Given the description of an element on the screen output the (x, y) to click on. 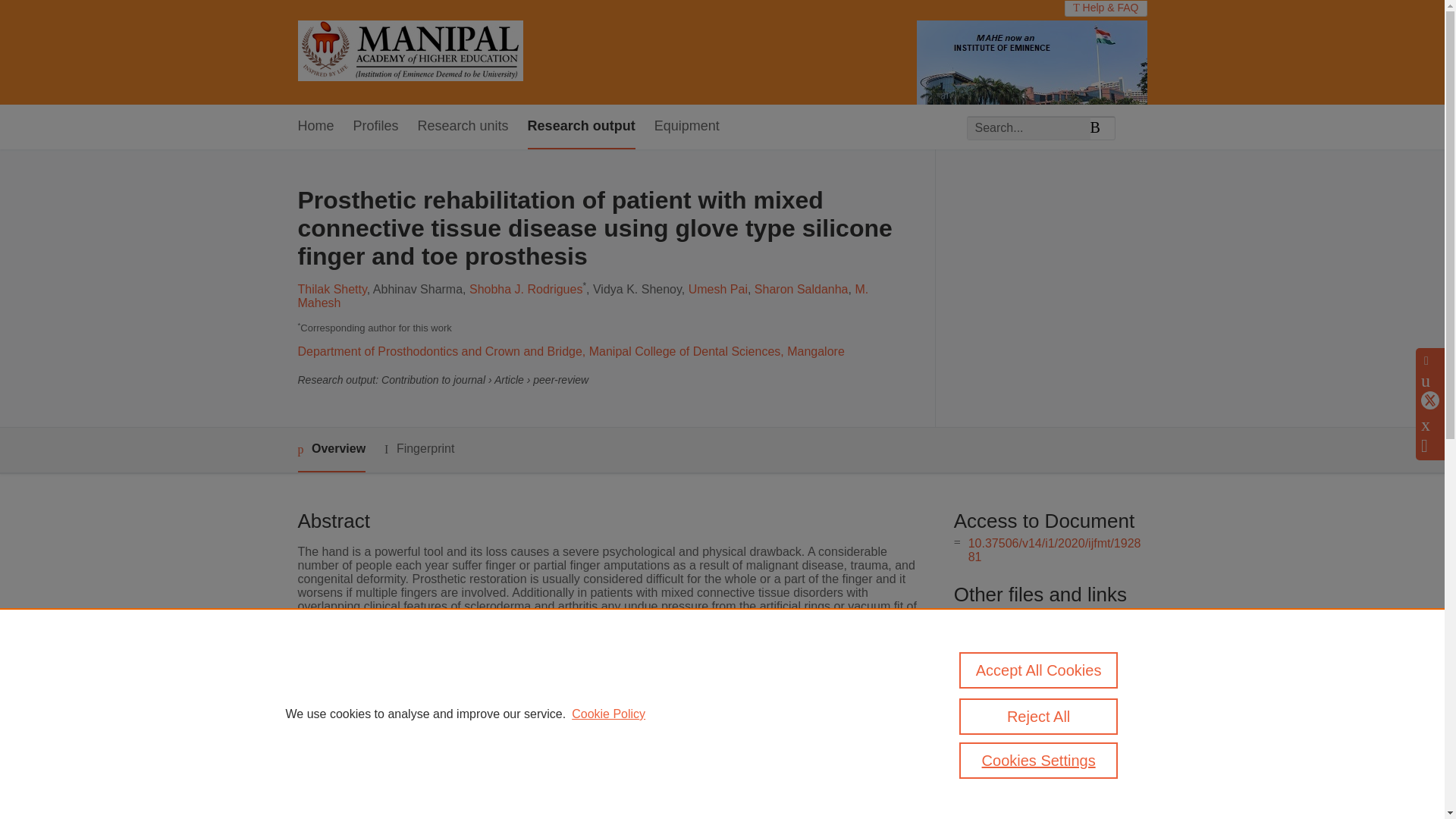
Thilak Shetty (331, 288)
Link to citation list in Scopus (1044, 641)
Equipment (686, 126)
Overview (331, 449)
Research output (580, 126)
Research units (462, 126)
M. Mahesh (582, 295)
Profiles (375, 126)
Shobha J. Rodrigues (525, 288)
